Given the description of an element on the screen output the (x, y) to click on. 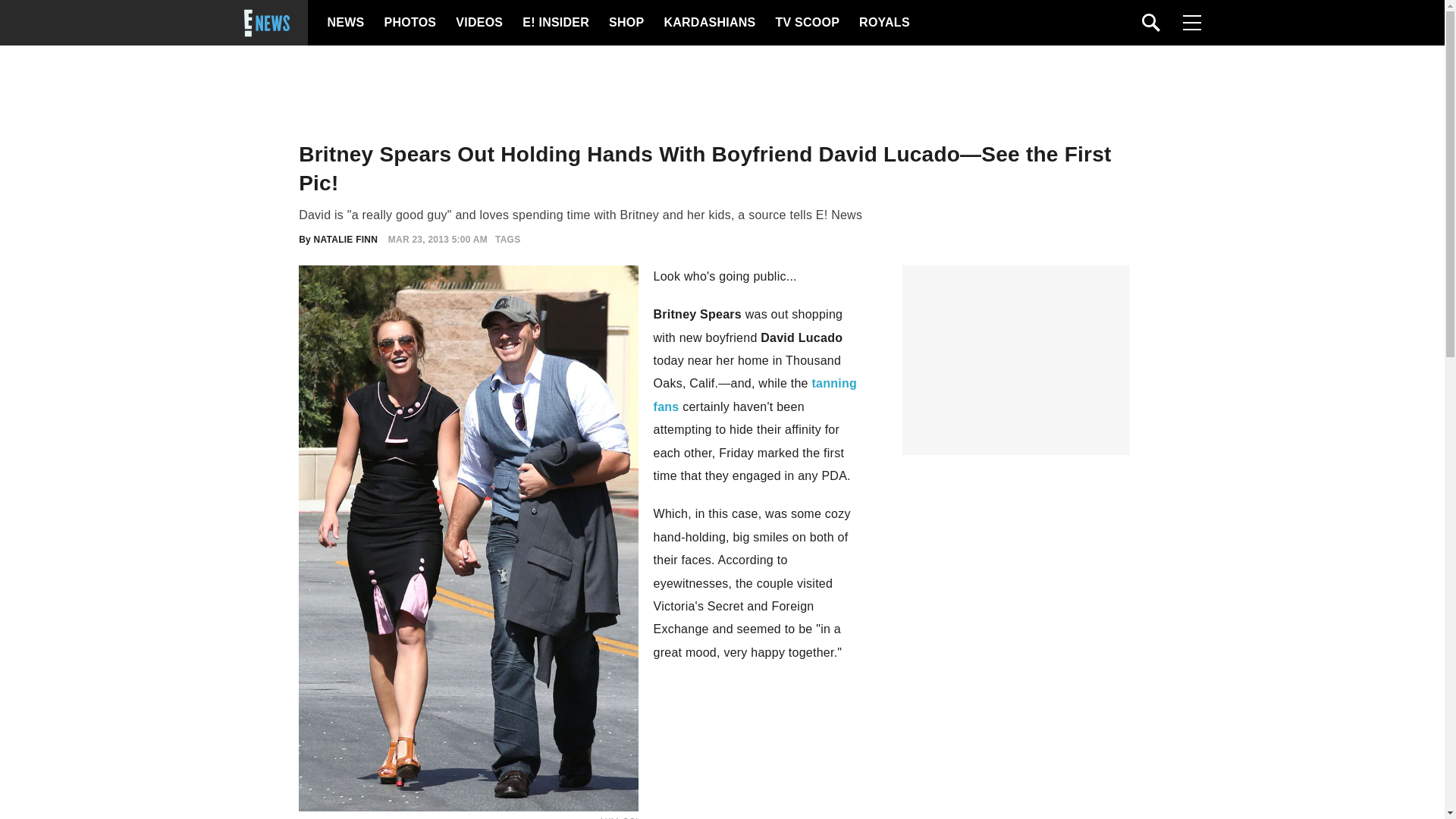
KARDASHIANS (708, 22)
ROYALS (883, 22)
tanning fans (755, 394)
PHOTOS (408, 22)
NATALIE FINN (346, 239)
E! INSIDER (555, 22)
VIDEOS (478, 22)
SHOP (625, 22)
NEWS (345, 22)
TV SCOOP (806, 22)
